Given the description of an element on the screen output the (x, y) to click on. 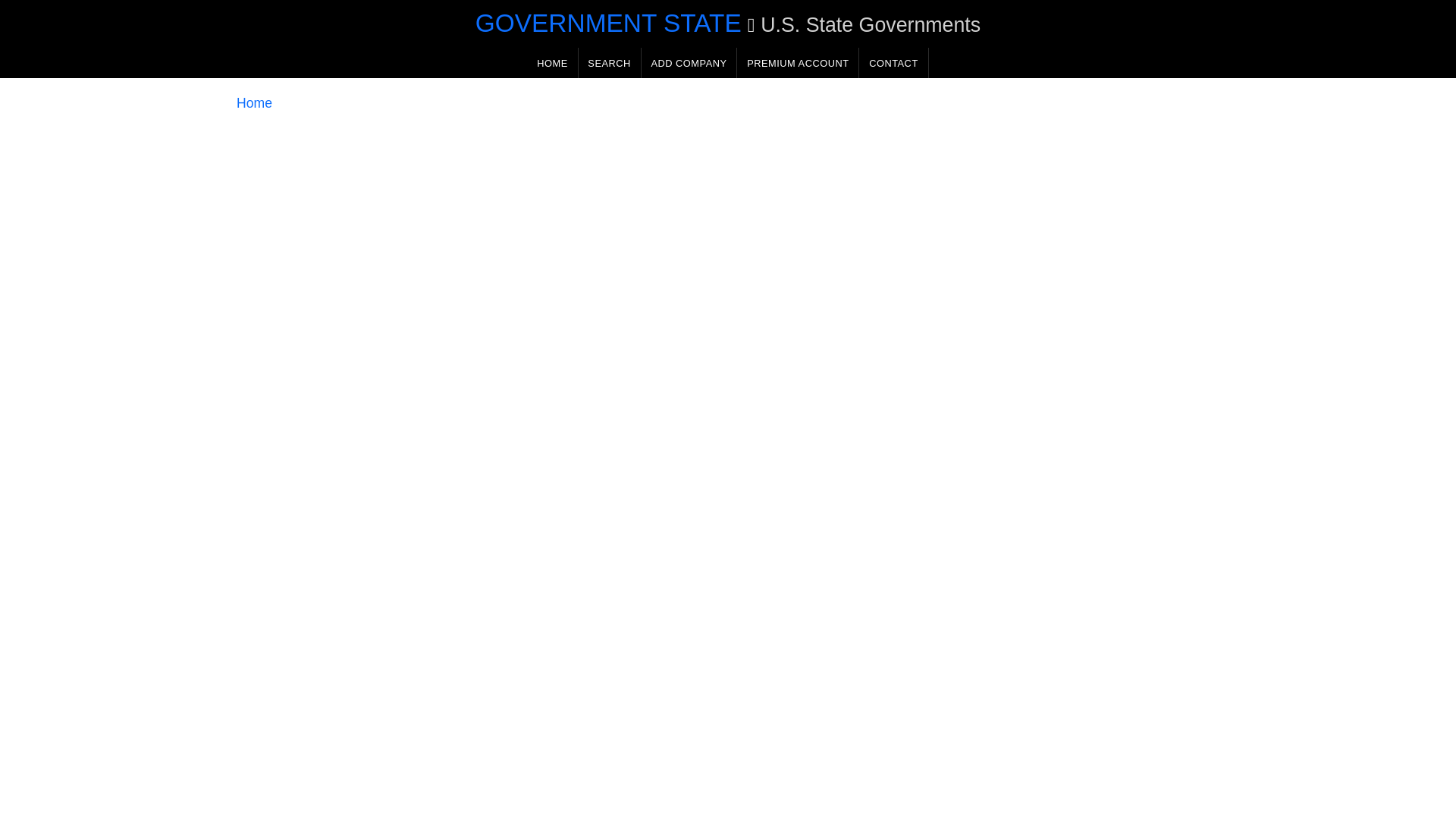
ADD COMPANY (689, 62)
SEARCH (609, 62)
Search in this webseite. (609, 62)
HOME (551, 62)
Home (253, 102)
Add a new company (689, 62)
CONTACT (893, 62)
Premium account (797, 62)
GOVERNMENT STATE (608, 22)
PREMIUM ACCOUNT (797, 62)
